Given the description of an element on the screen output the (x, y) to click on. 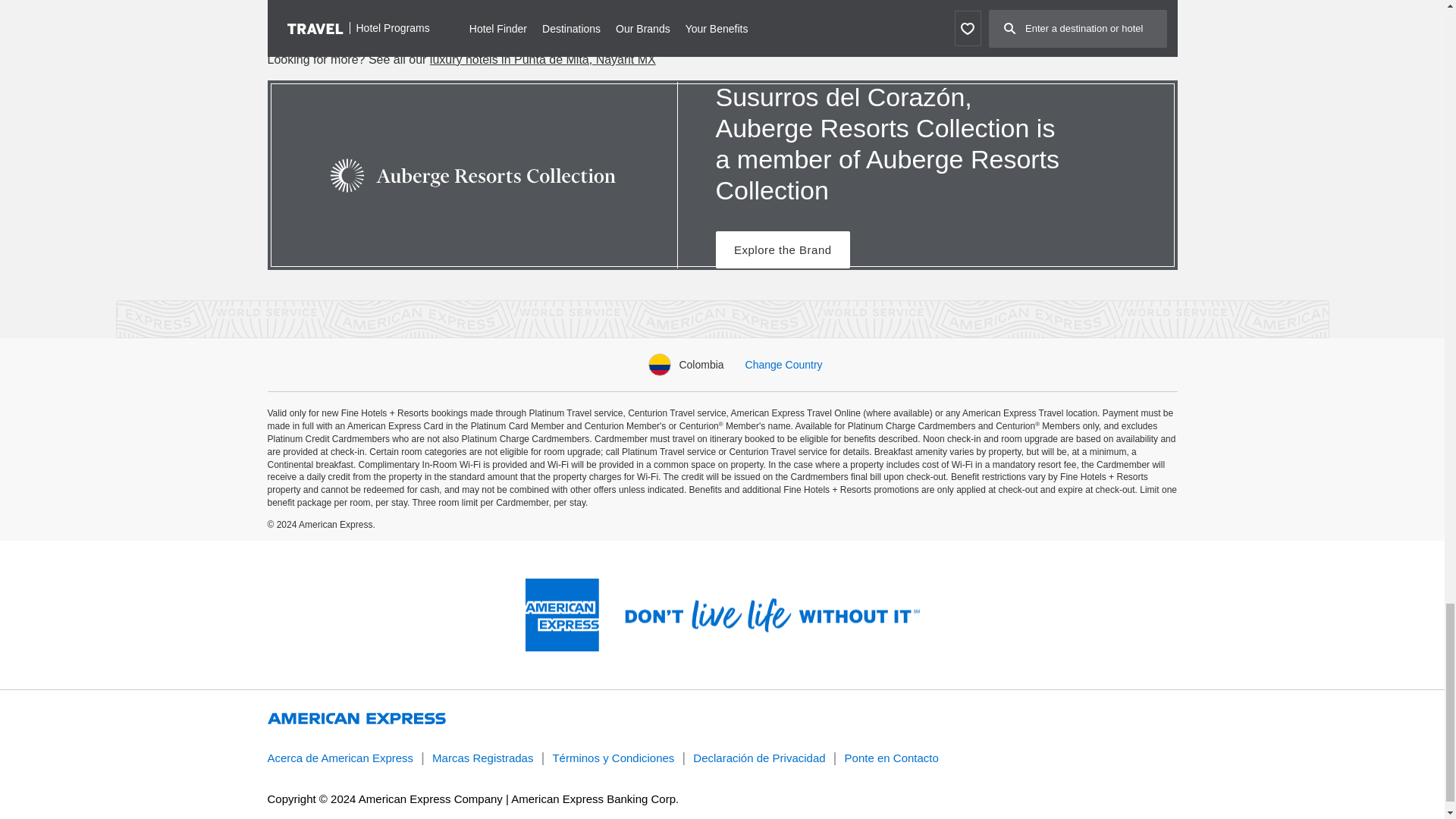
Ponte en Contacto (891, 757)
Acerca de American Express (339, 757)
Marcas Registradas (482, 757)
